Given the description of an element on the screen output the (x, y) to click on. 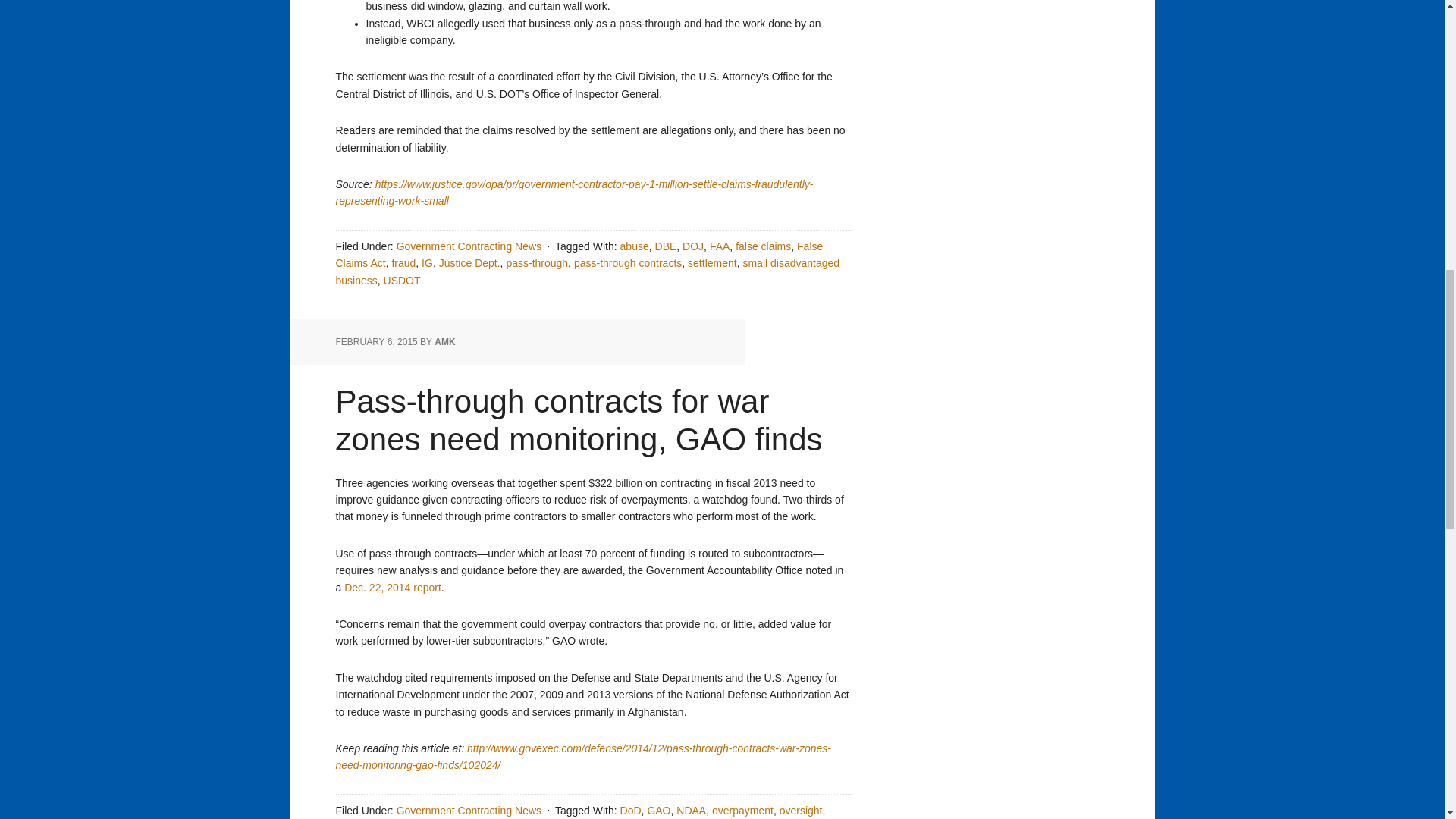
Justice Dept. (469, 263)
Government Contracting News (468, 246)
settlement (711, 263)
fraud (402, 263)
FAA (719, 246)
DBE (666, 246)
Government Contracting News (468, 810)
NDAA (691, 810)
abuse (634, 246)
DoD (631, 810)
DOJ (692, 246)
overpayment (742, 810)
oversight (800, 810)
Dec. 22, 2014 report (392, 587)
AMK (443, 341)
